Given the description of an element on the screen output the (x, y) to click on. 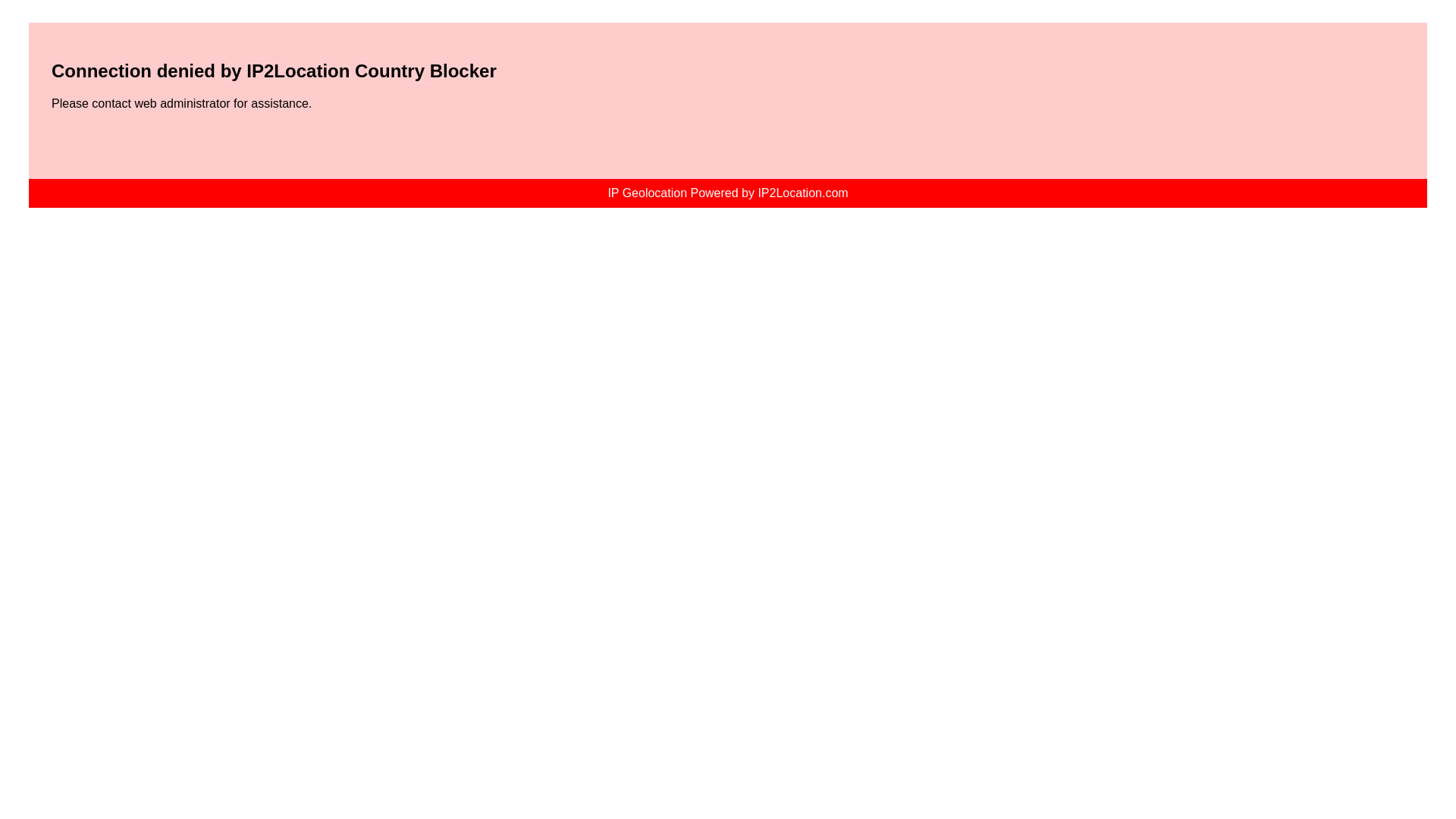
IP Geolocation Powered by IP2Location.com (727, 192)
